Given the description of an element on the screen output the (x, y) to click on. 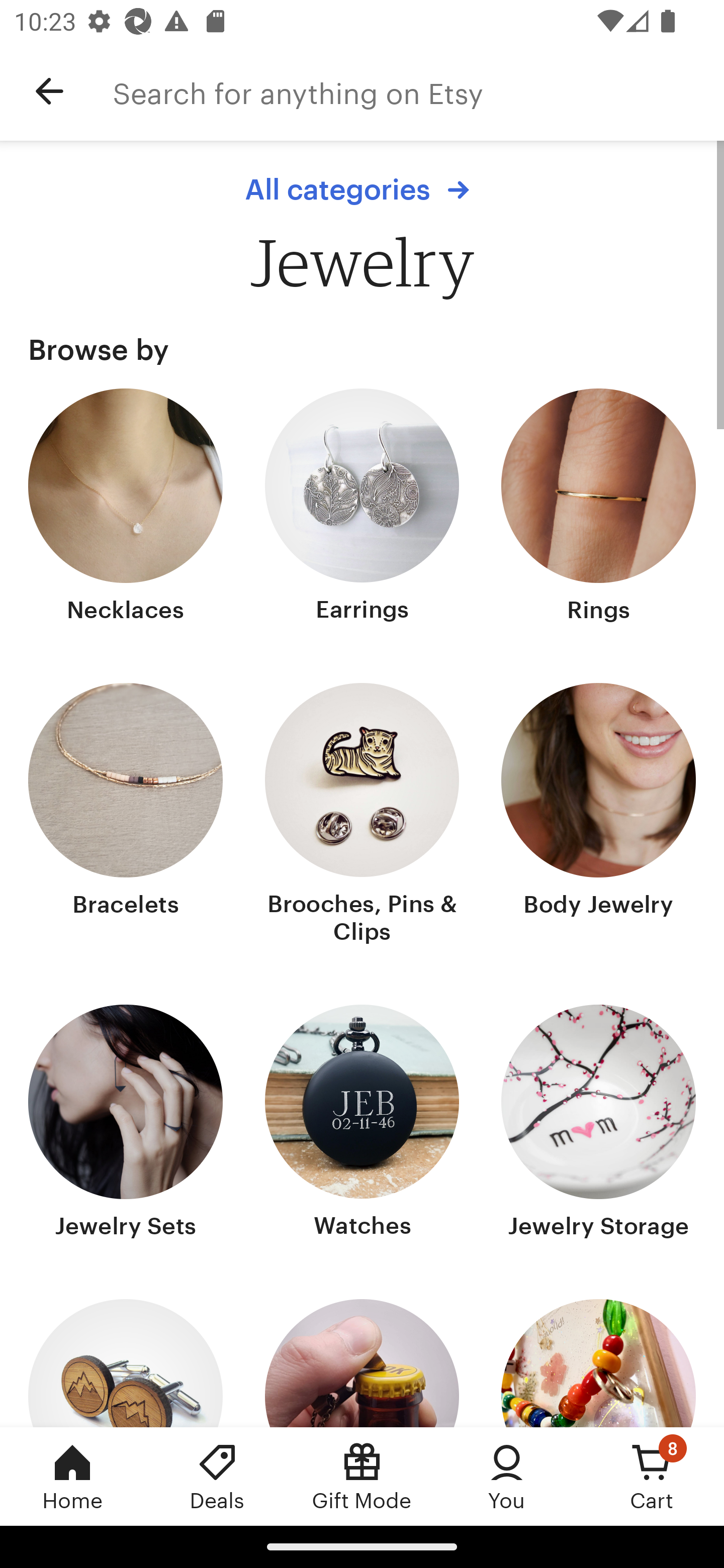
Navigate up (49, 91)
Search for anything on Etsy (418, 91)
All categories (361, 189)
Necklaces (125, 507)
Earrings (361, 507)
Rings (598, 507)
Bracelets (125, 815)
Brooches, Pins & Clips (361, 815)
Body Jewelry (598, 815)
Jewelry Sets (125, 1124)
Watches (361, 1124)
Jewelry Storage (598, 1124)
Cuff Links & Tie Clips (125, 1362)
Cremation & Memorial Jewelry (361, 1362)
Smart Jewelry (598, 1362)
Deals (216, 1475)
Gift Mode (361, 1475)
You (506, 1475)
Cart, 8 new notifications Cart (651, 1475)
